Given the description of an element on the screen output the (x, y) to click on. 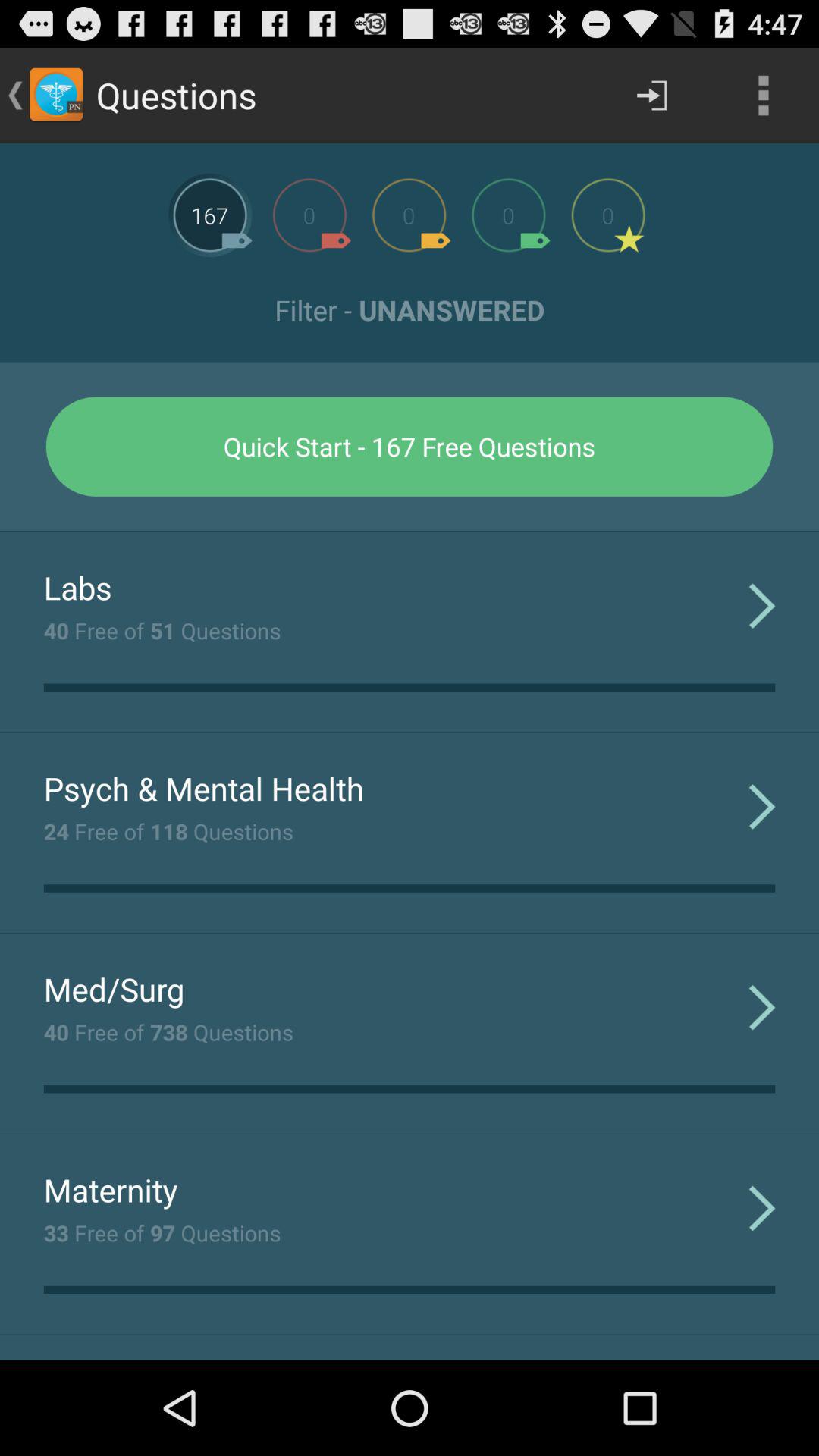
choose item next to questions item (651, 95)
